Given the description of an element on the screen output the (x, y) to click on. 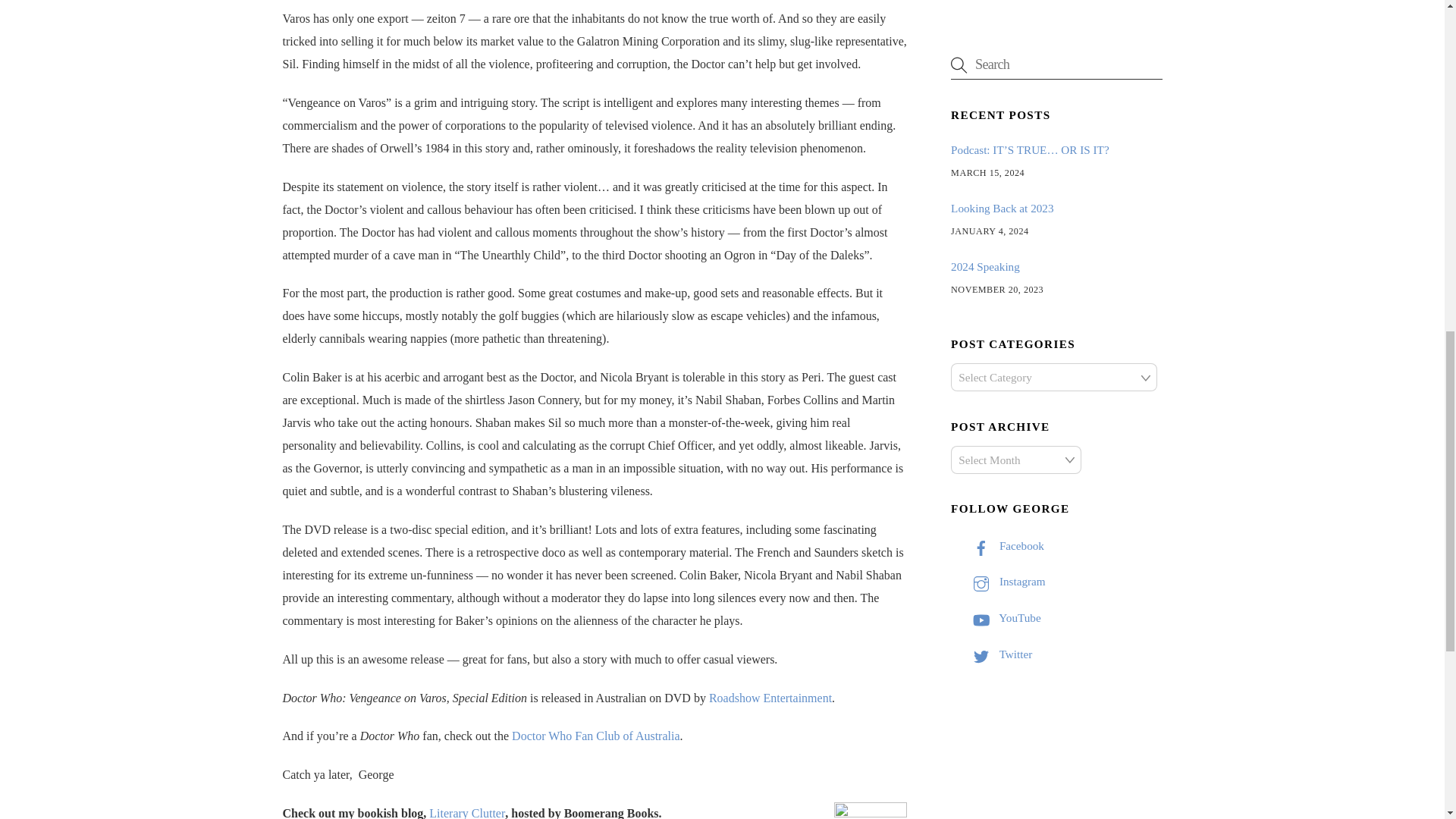
Roadshow Entertainment (770, 697)
Doctor Who Fan Club of Australia (595, 735)
Literary Clutter (467, 812)
Blood Brothers (870, 810)
